Given the description of an element on the screen output the (x, y) to click on. 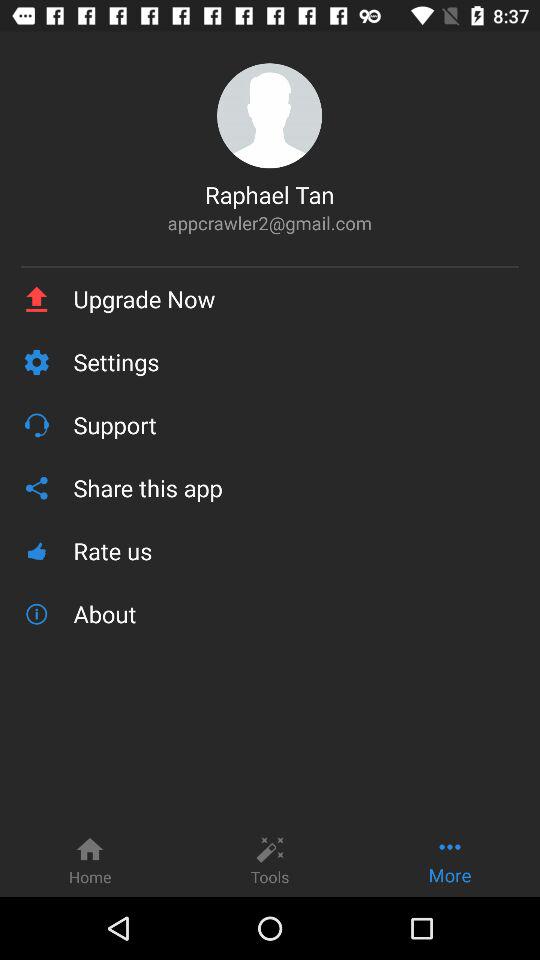
launch the icon below rate us icon (296, 614)
